Given the description of an element on the screen output the (x, y) to click on. 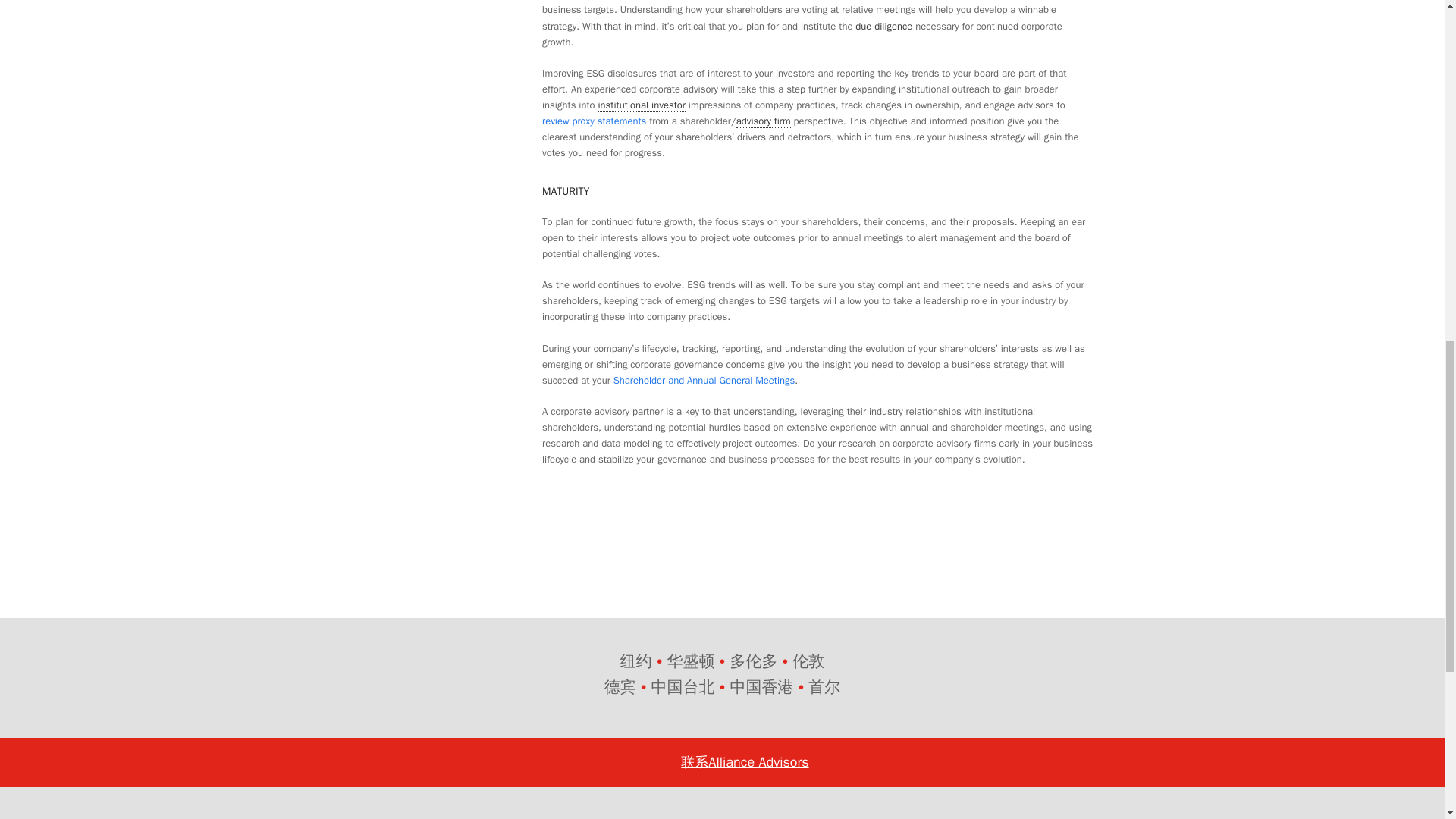
due diligence (884, 26)
institutional investor (640, 105)
Shareholder and Annual General Meetings (703, 379)
review proxy statements (593, 120)
advisory firm (763, 120)
